Given the description of an element on the screen output the (x, y) to click on. 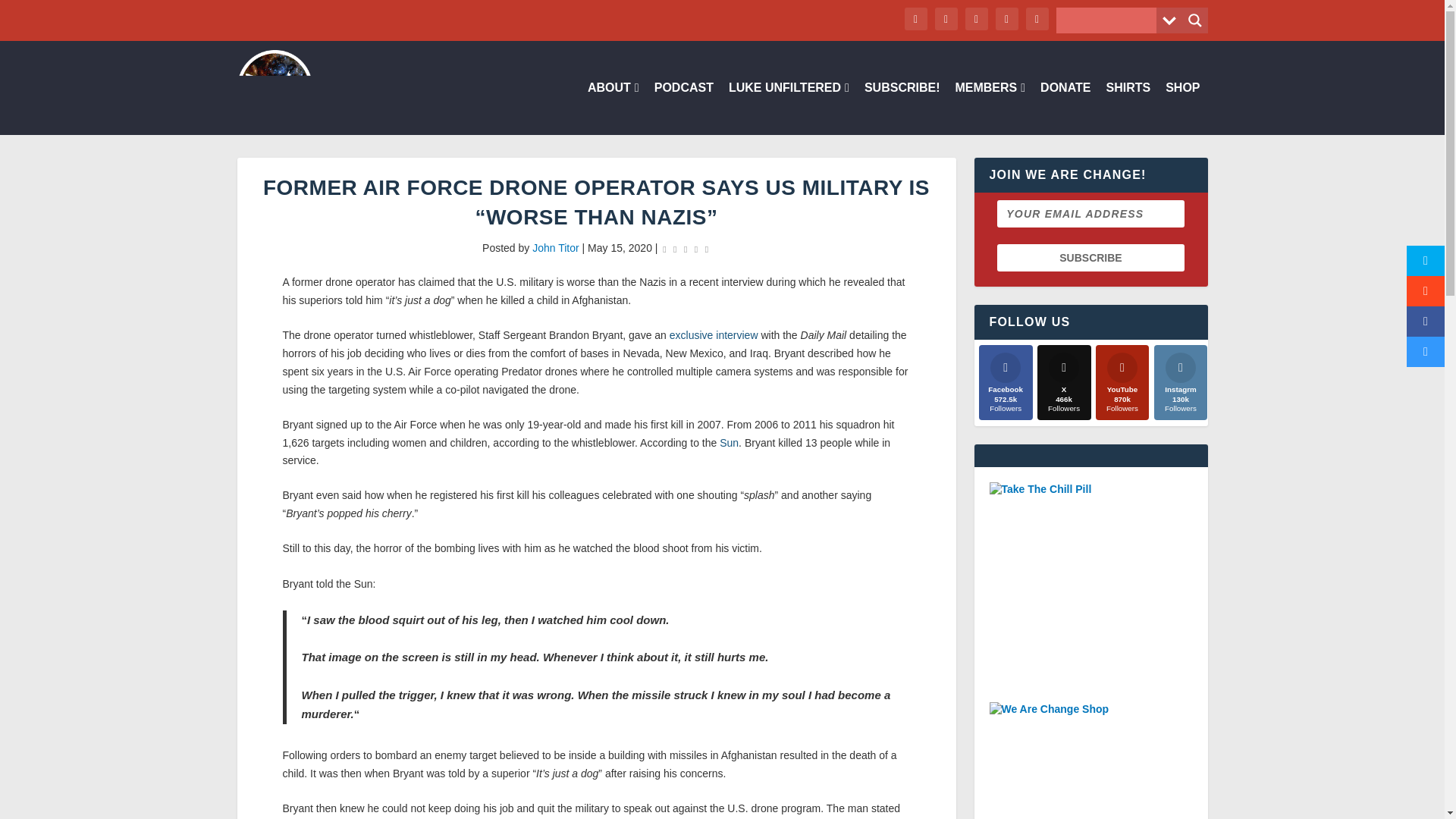
LUKE UNFILTERED (788, 108)
SUBSCRIBE! (902, 108)
John Titor (555, 247)
Posts by John Titor (555, 247)
ABOUT (613, 108)
About (613, 108)
DONATE (1065, 108)
Sun (728, 442)
MEMBERS (990, 108)
exclusive interview (713, 335)
